Given the description of an element on the screen output the (x, y) to click on. 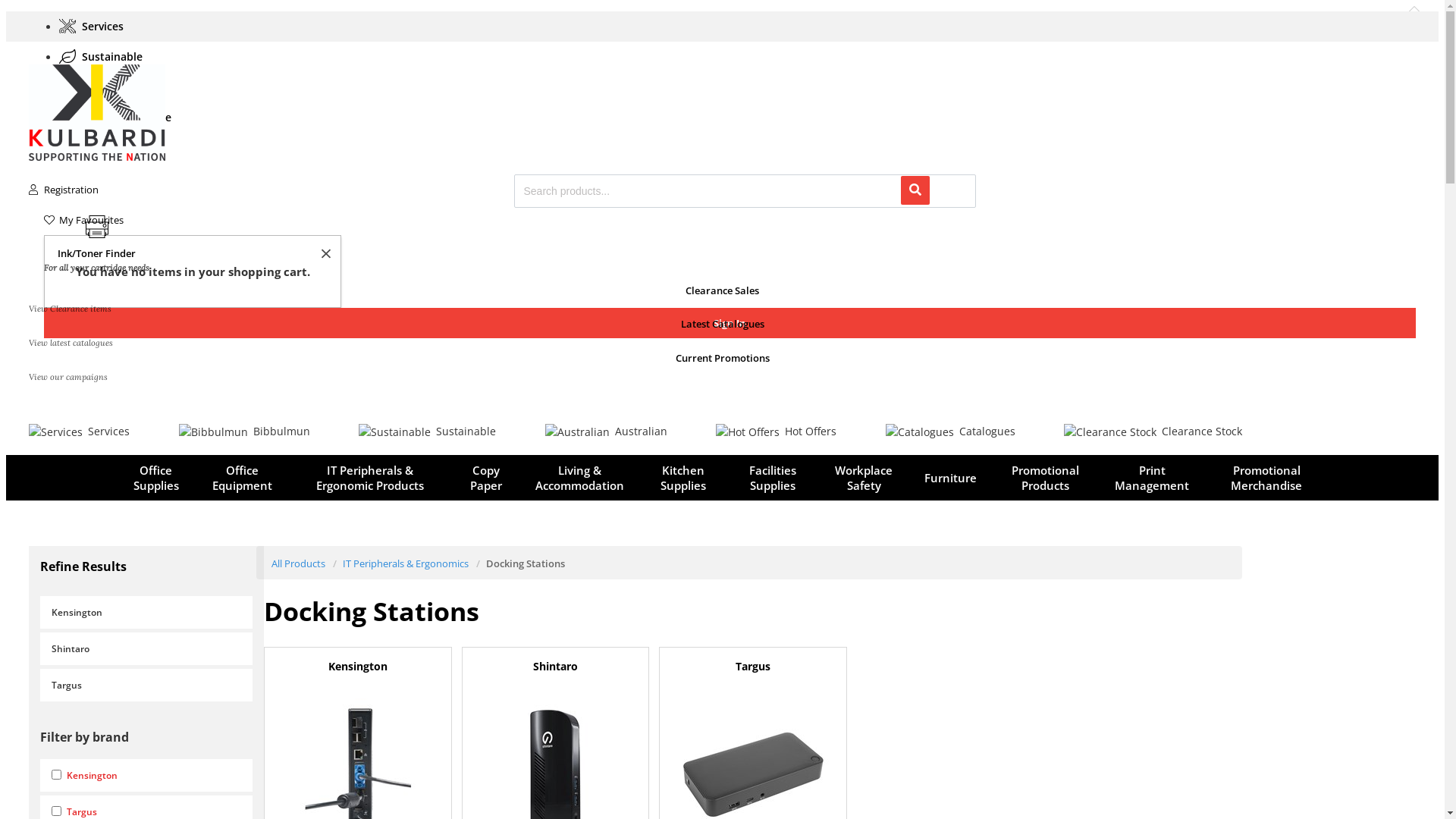
Office Equipment Element type: text (241, 477)
IT Peripherals & Ergonomic Products Element type: text (369, 477)
Copy Paper Element type: text (485, 477)
Promotional Products Element type: text (1045, 477)
Clearance Stock Element type: text (1152, 430)
Sustainable Element type: text (426, 430)
Current Promotions
View our campaigns Element type: text (721, 378)
Services Element type: text (95, 25)
Sustainable Element type: text (104, 56)
Clearance Sales
View Clearance items Element type: text (721, 313)
Targus Element type: text (146, 684)
Furniture Element type: text (950, 477)
Services Element type: text (78, 430)
Australian Element type: text (605, 430)
Living & Accommodation Element type: text (579, 477)
Catalogues Element type: text (950, 430)
Kensington Element type: text (146, 612)
Hot Offers Element type: text (775, 430)
Facilities Supplies Element type: text (772, 477)
All Products Element type: text (298, 563)
My Favourites Element type: text (729, 219)
COVID-19 Element type: text (98, 147)
Ink/Toner Finder
For all your cartridge needs Element type: text (96, 244)
Workplace Safety Element type: text (863, 477)
Kitchen Supplies Element type: text (683, 477)
Bibbulmun Element type: text (244, 430)
Office Supplies Element type: text (155, 477)
Sign In Element type: text (729, 322)
Latest Catalogues
View latest catalogues Element type: text (721, 344)
Print Management Element type: text (1151, 477)
Bibbulmun Element type: text (105, 86)
IT Peripherals & Ergonomics Element type: text (405, 563)
Promotional Merchandise Element type: text (1266, 477)
Registration Element type: text (721, 189)
Shintaro Element type: text (146, 648)
Australian Made Element type: text (118, 116)
